Given the description of an element on the screen output the (x, y) to click on. 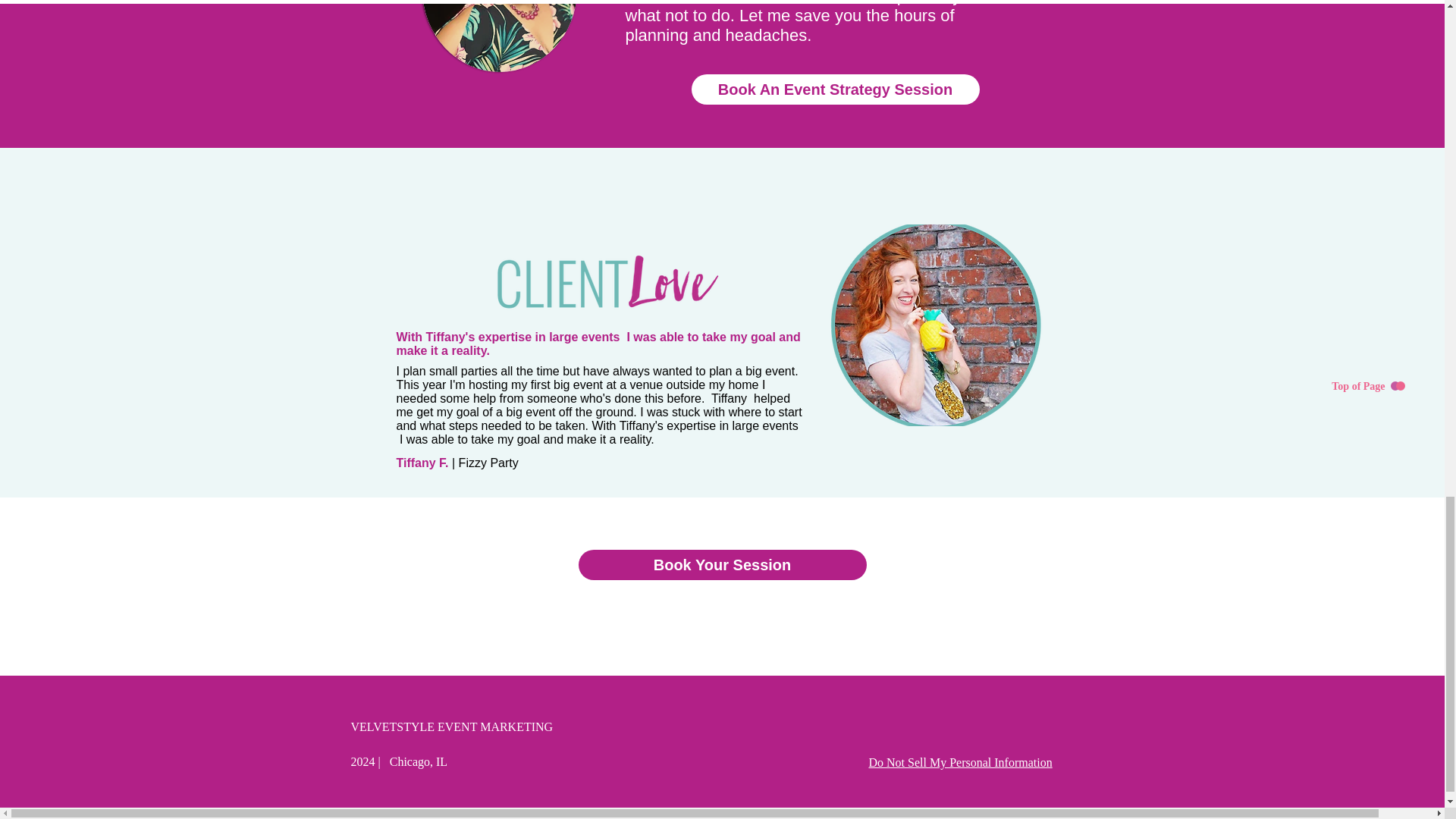
Do Not Sell My Personal Information (960, 762)
Book An Event Strategy Session (835, 89)
Book Your Session (722, 564)
